Given the description of an element on the screen output the (x, y) to click on. 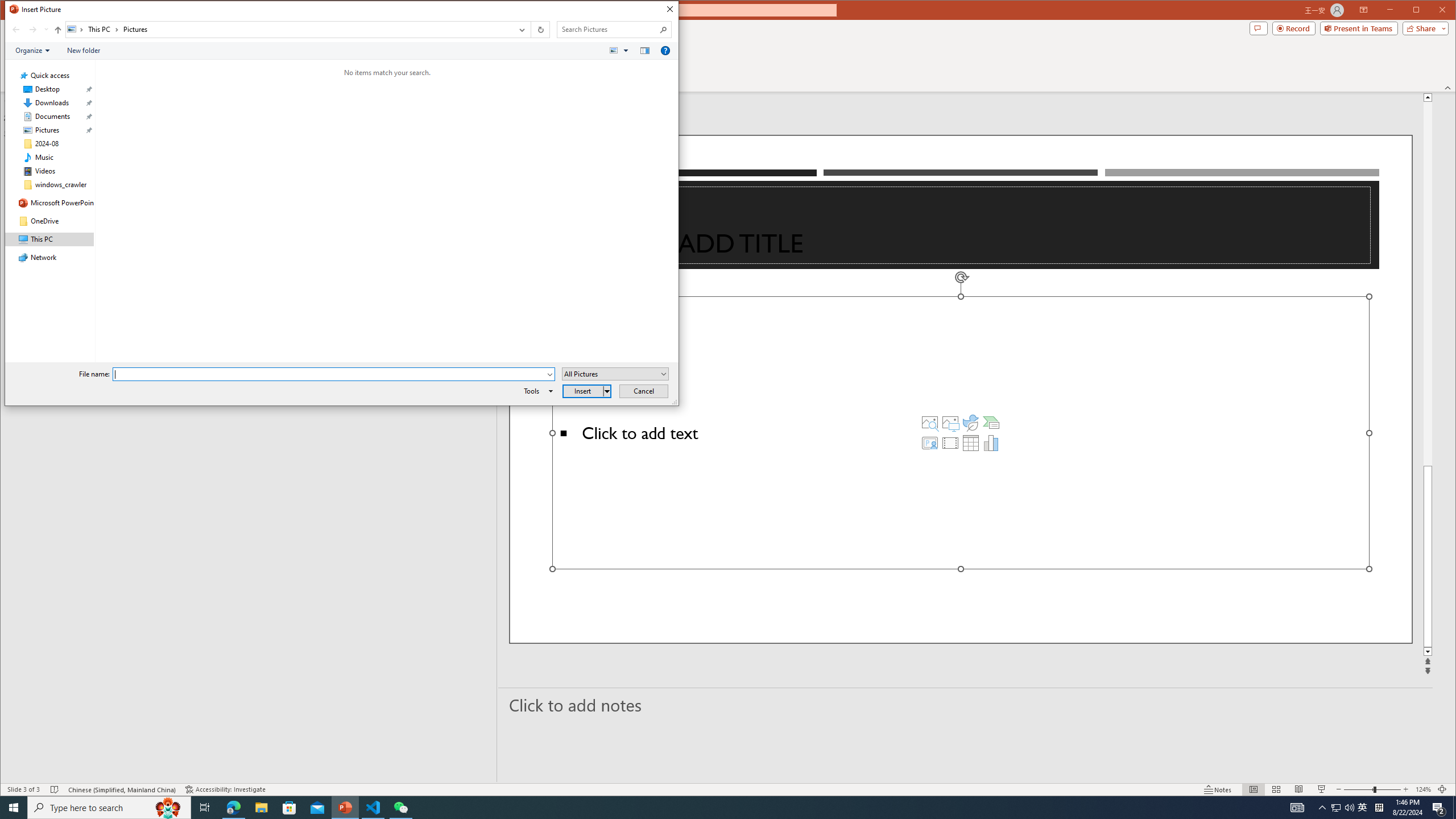
Up to "This PC" (Alt + Up Arrow) (57, 29)
Class: MsoCommandBar (728, 789)
Slide Sorter (1276, 789)
Show desktop (1454, 807)
Normal (1253, 789)
Zoom to Fit  (1441, 789)
Search Box (608, 29)
Insert Chart (991, 443)
Forward (Alt + Right Arrow) (33, 29)
Spell Check No Errors (55, 789)
Notification Chevron (1322, 807)
Comments (1258, 28)
Address: Pictures (288, 29)
